Given the description of an element on the screen output the (x, y) to click on. 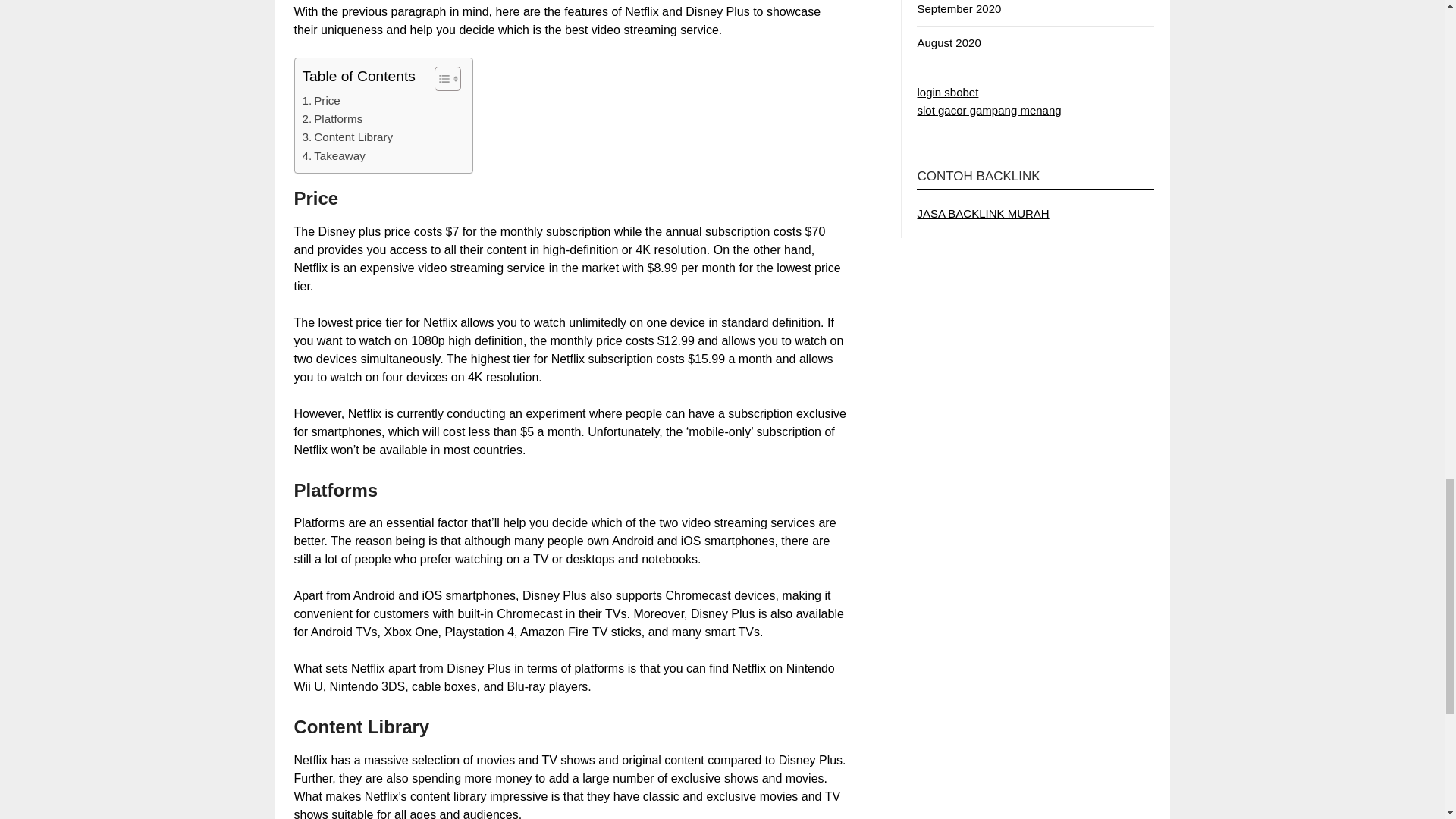
Content Library (347, 136)
Price (320, 100)
Takeaway (333, 156)
Price (320, 100)
Takeaway (333, 156)
Platforms (331, 118)
Platforms (331, 118)
Content Library (347, 136)
